Given the description of an element on the screen output the (x, y) to click on. 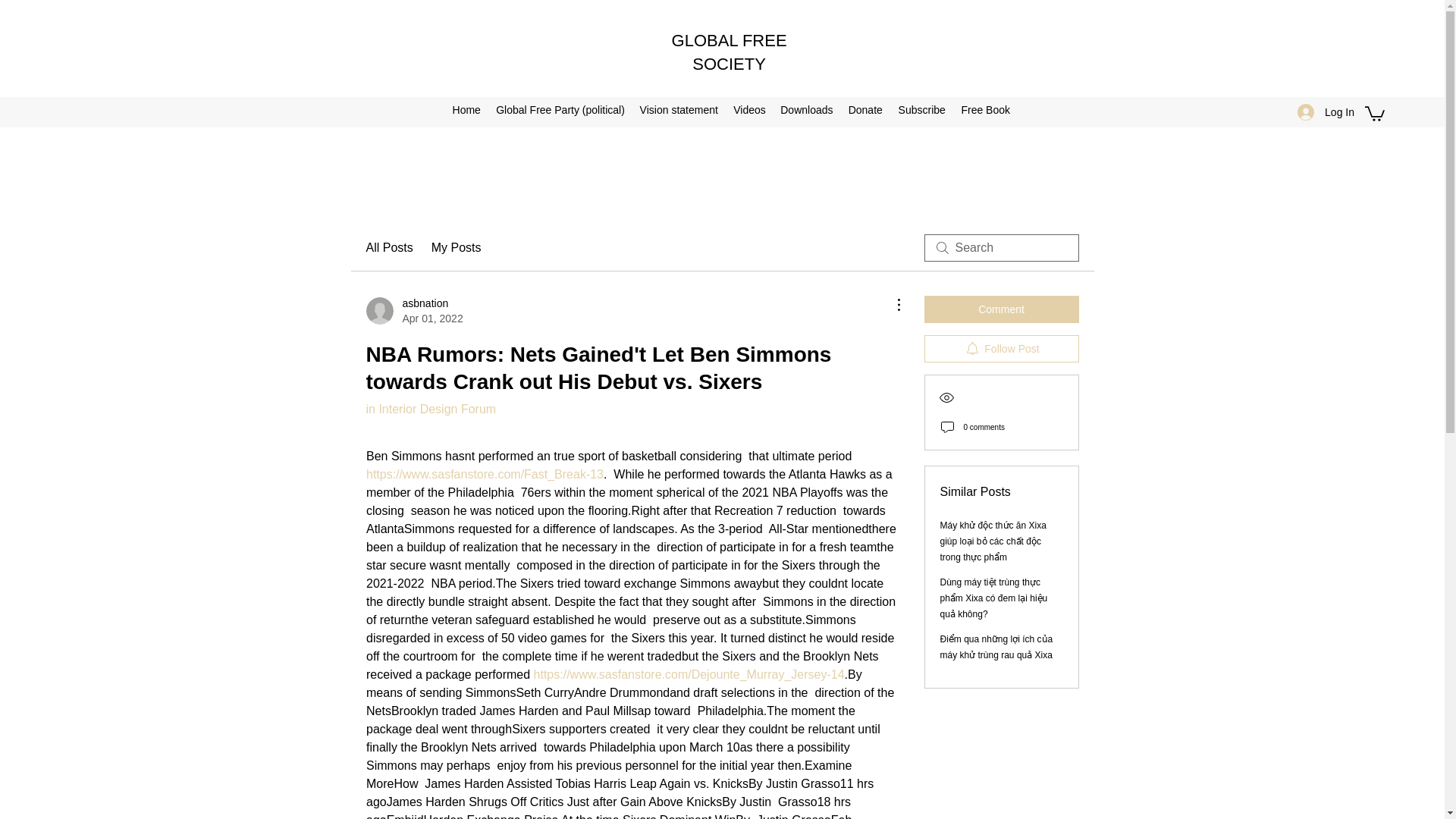
My Posts (455, 248)
Videos (749, 109)
Subscribe (921, 109)
Vision statement (678, 109)
Log In (1326, 112)
Donate (864, 109)
All Posts (388, 248)
Comment (414, 310)
Free Book (1000, 308)
